Given the description of an element on the screen output the (x, y) to click on. 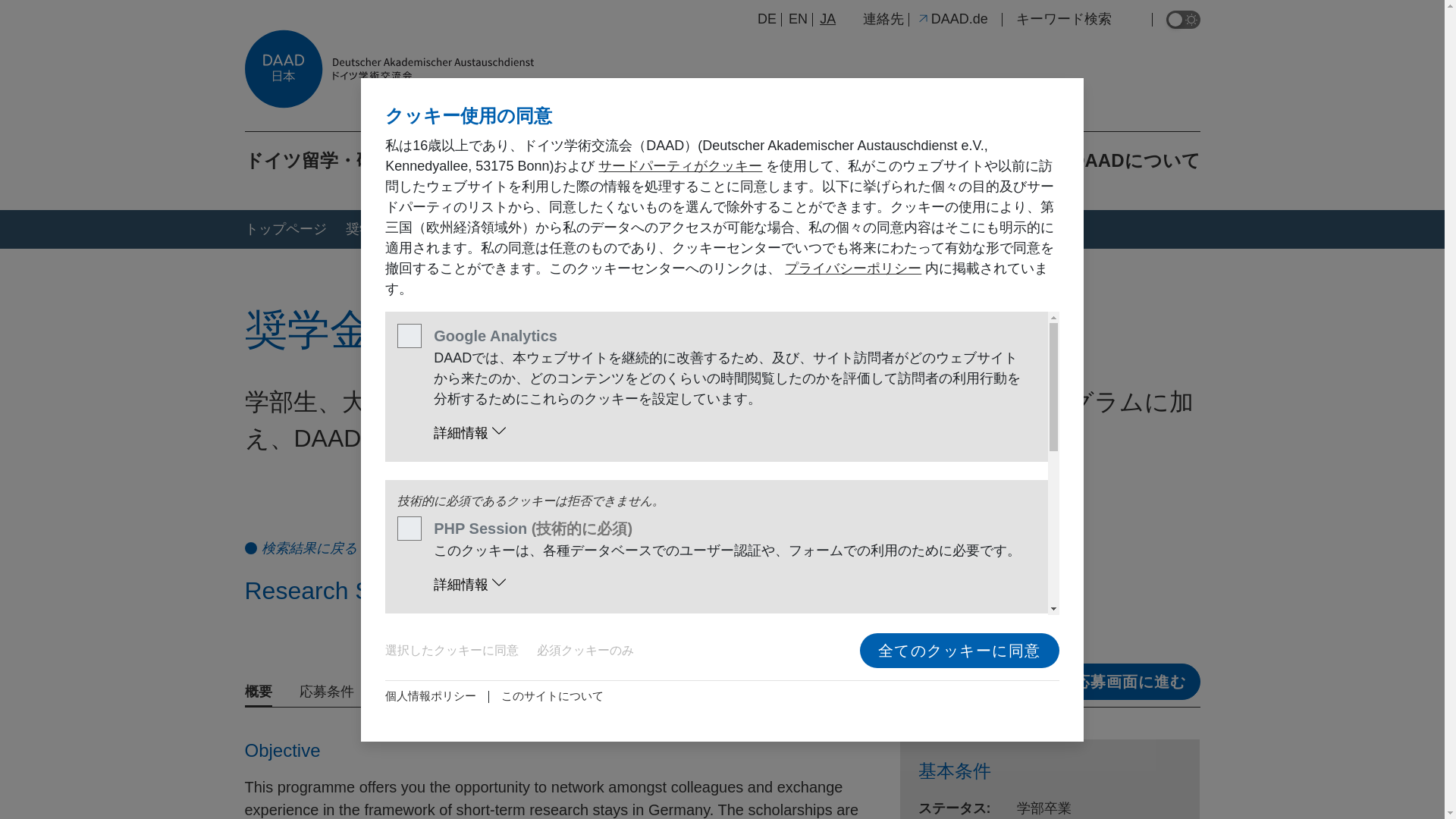
DAAD.de (951, 19)
EN (798, 19)
DE (766, 19)
